Given the description of an element on the screen output the (x, y) to click on. 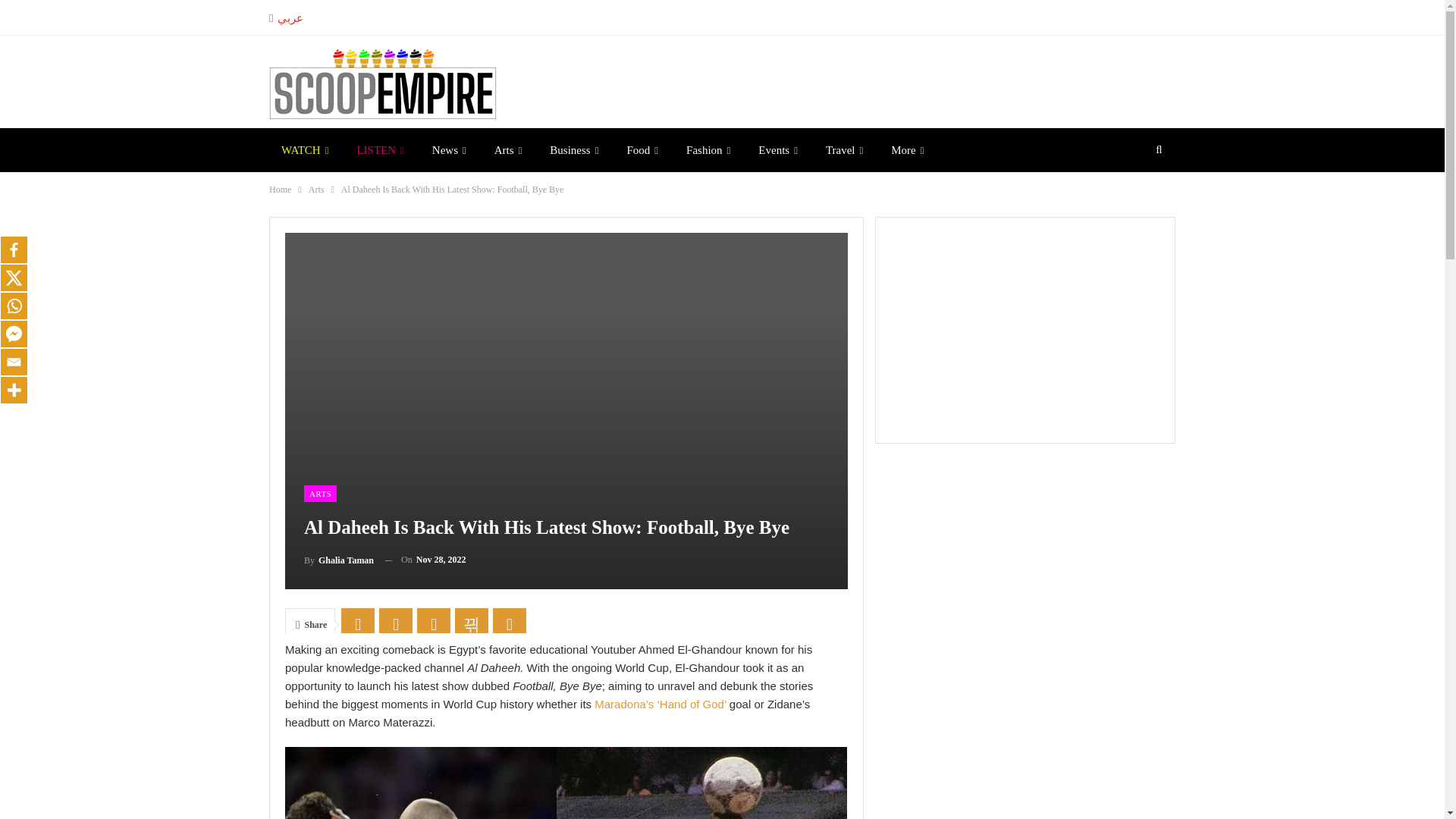
News (449, 149)
Arts (507, 149)
LISTEN (378, 149)
WATCH (304, 149)
Business (573, 149)
